Given the description of an element on the screen output the (x, y) to click on. 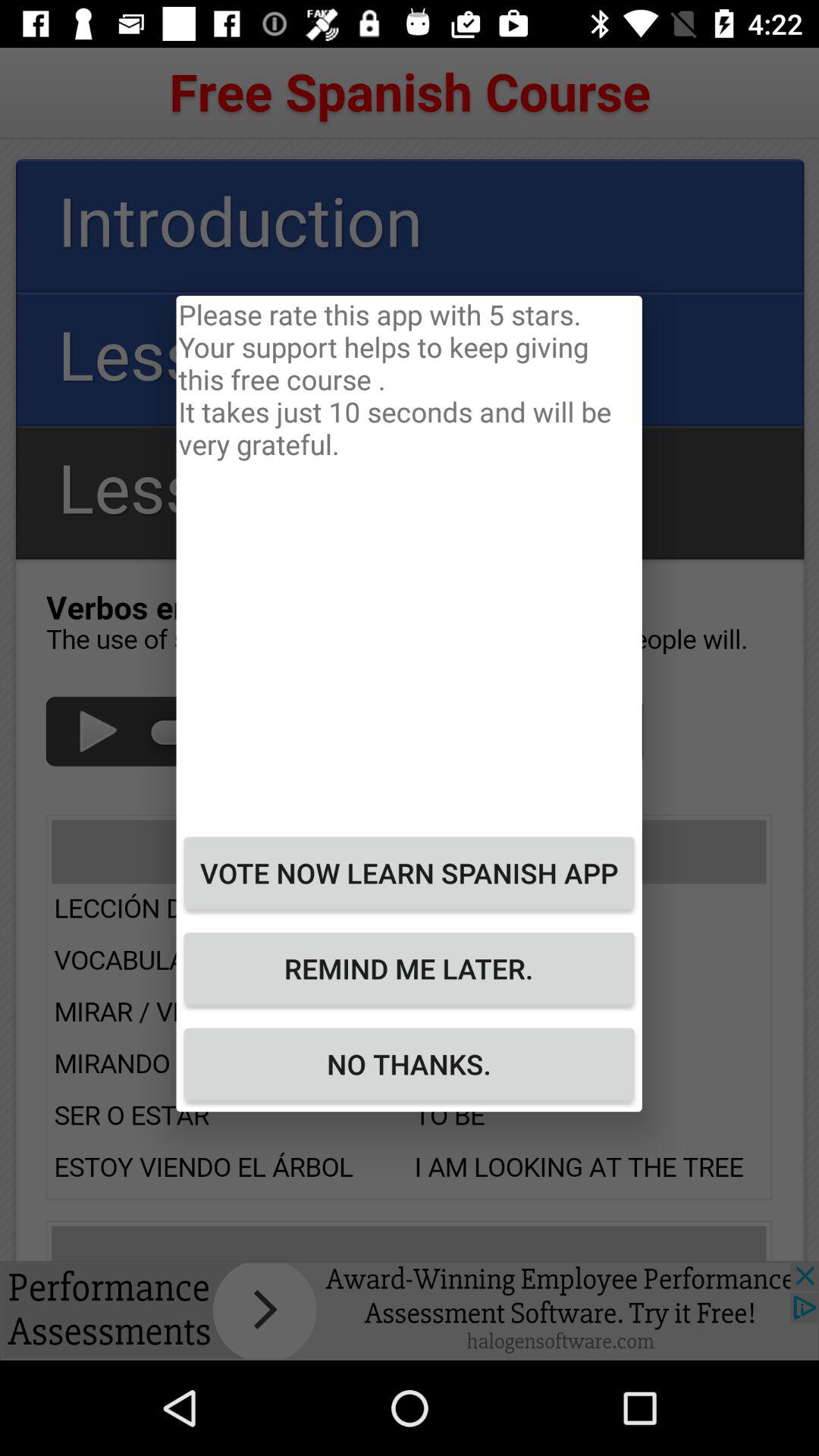
tap the vote now learn icon (409, 872)
